Given the description of an element on the screen output the (x, y) to click on. 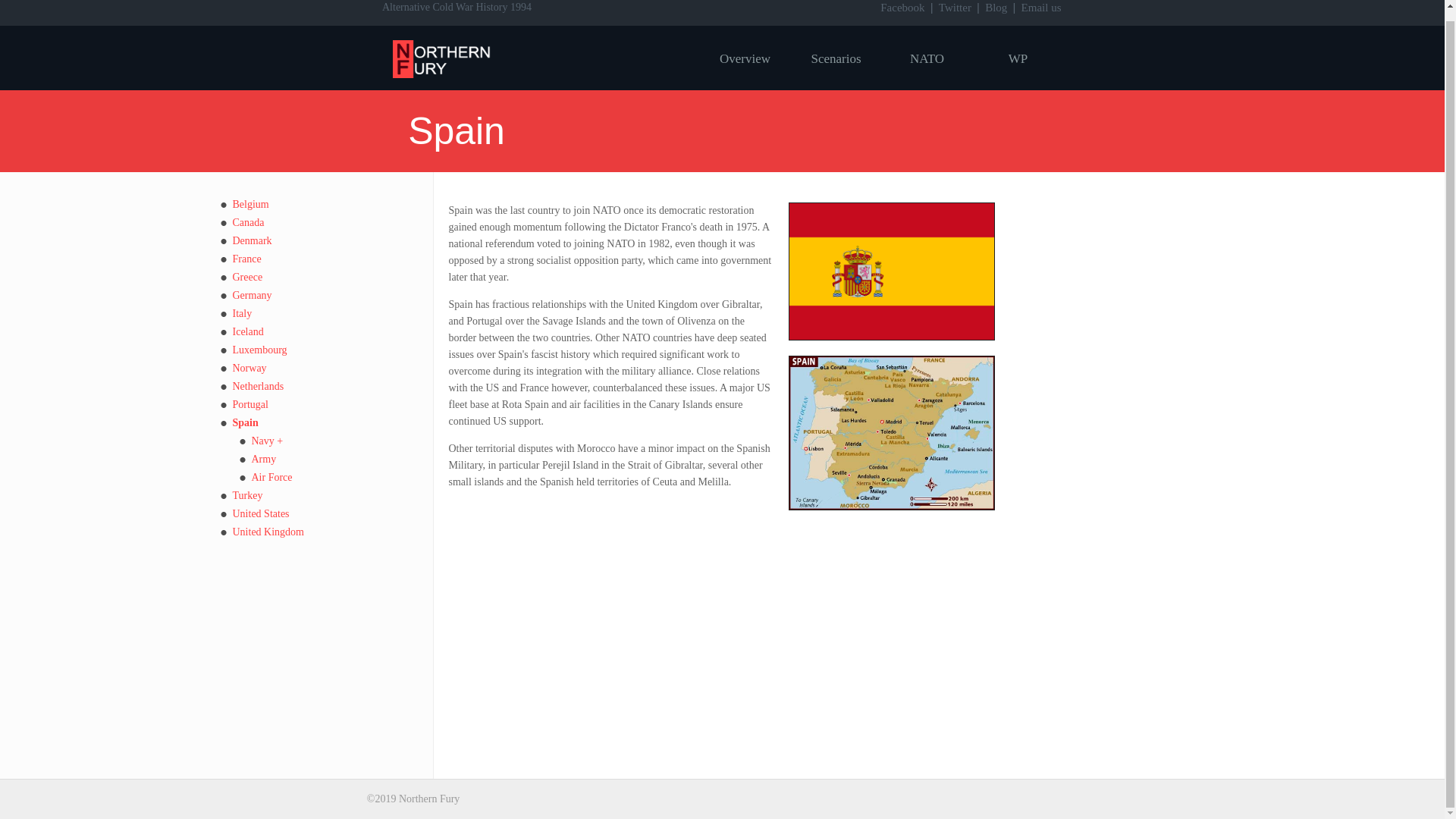
Overview (744, 58)
Facebook (902, 7)
Twitter (955, 7)
Email us (1041, 7)
Blog (996, 7)
Scenarios (835, 58)
